Given the description of an element on the screen output the (x, y) to click on. 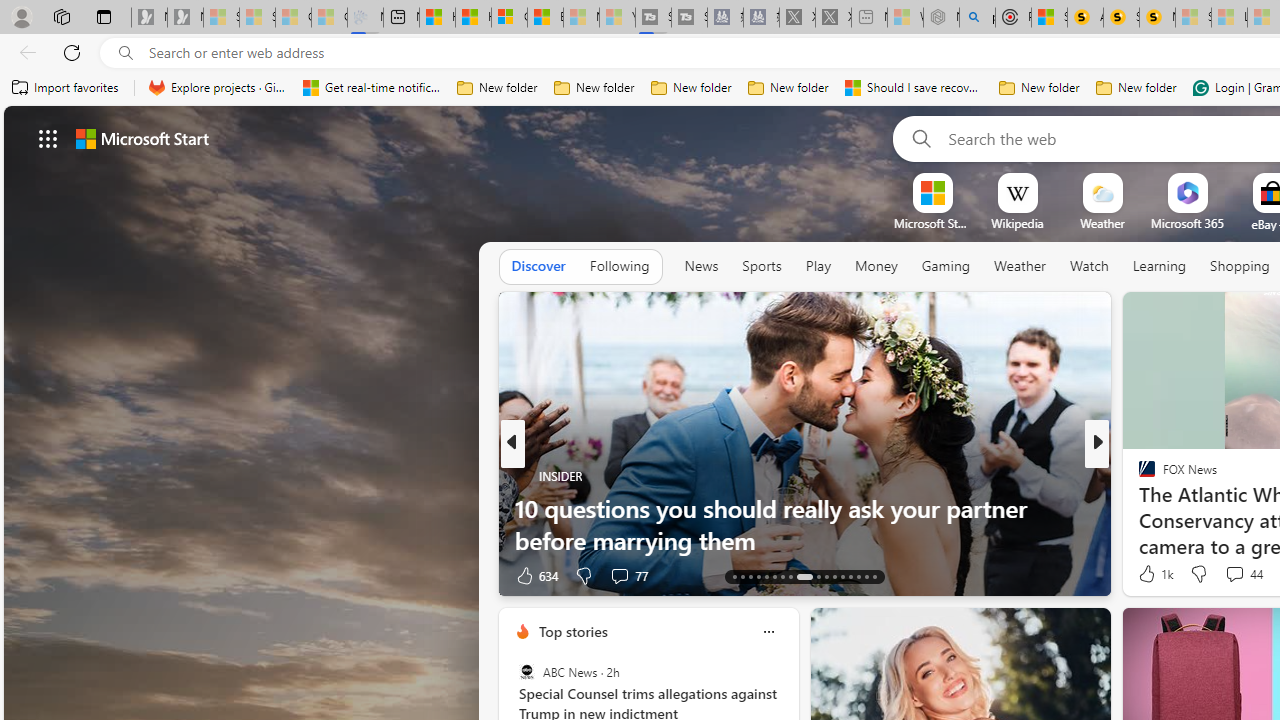
View comments 4 Comment (1234, 574)
View comments 191 Comment (11, 575)
39 Like (1149, 574)
Microsoft start (142, 138)
1k Like (1154, 574)
New folder (1136, 88)
